Given the description of an element on the screen output the (x, y) to click on. 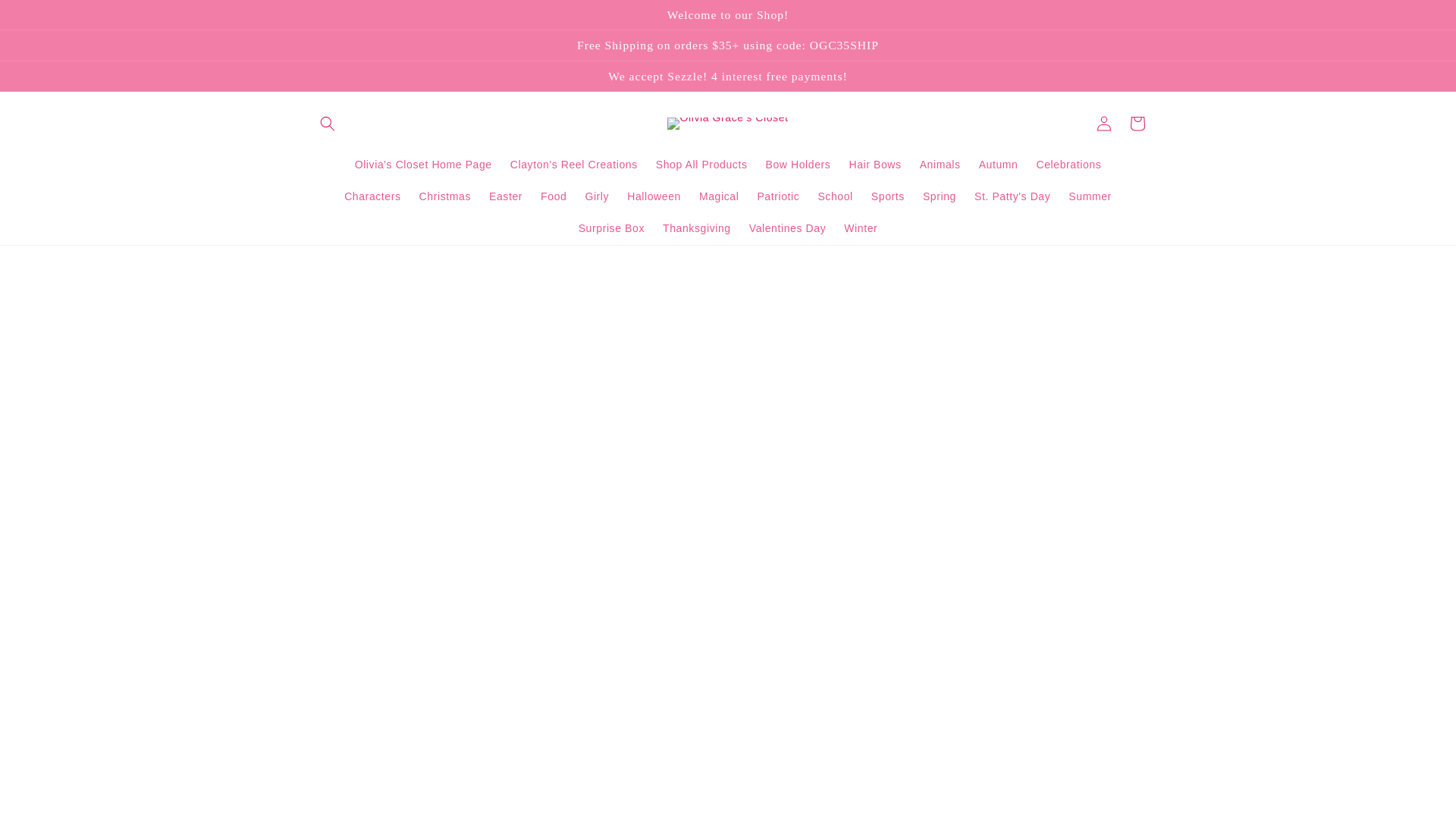
Skip to content (46, 18)
Autumn (998, 164)
Animals (940, 164)
Hair Bows (875, 164)
Clayton's Reel Creations (573, 164)
Bow Holders (797, 164)
Olivia's Closet Home Page (423, 164)
Shop All Products (701, 164)
